Given the description of an element on the screen output the (x, y) to click on. 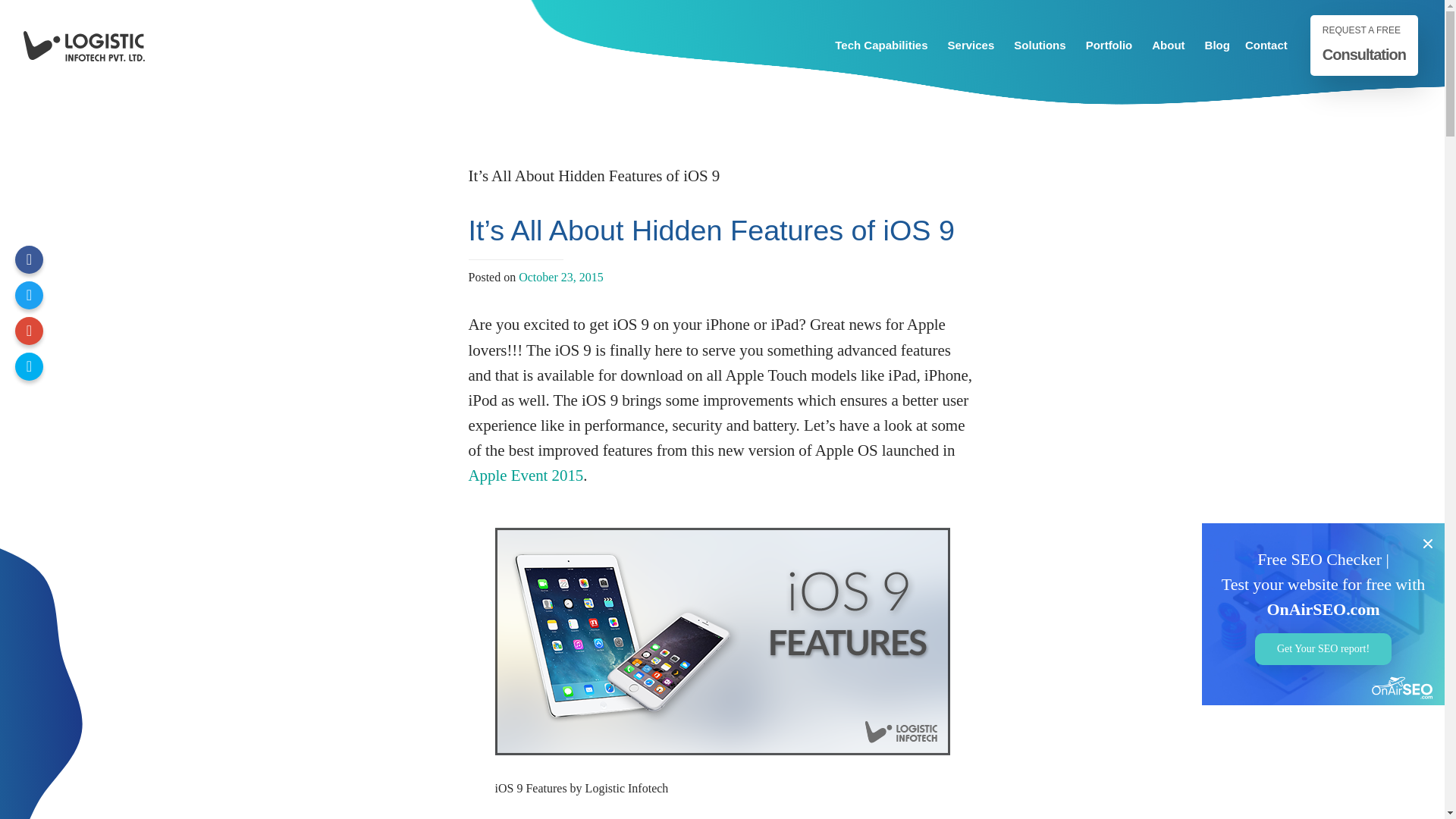
Facebook (28, 259)
Services (973, 45)
Tech Capabilities (883, 45)
Skype (28, 366)
Twitter (28, 295)
Request a free consultation (1364, 45)
